Given the description of an element on the screen output the (x, y) to click on. 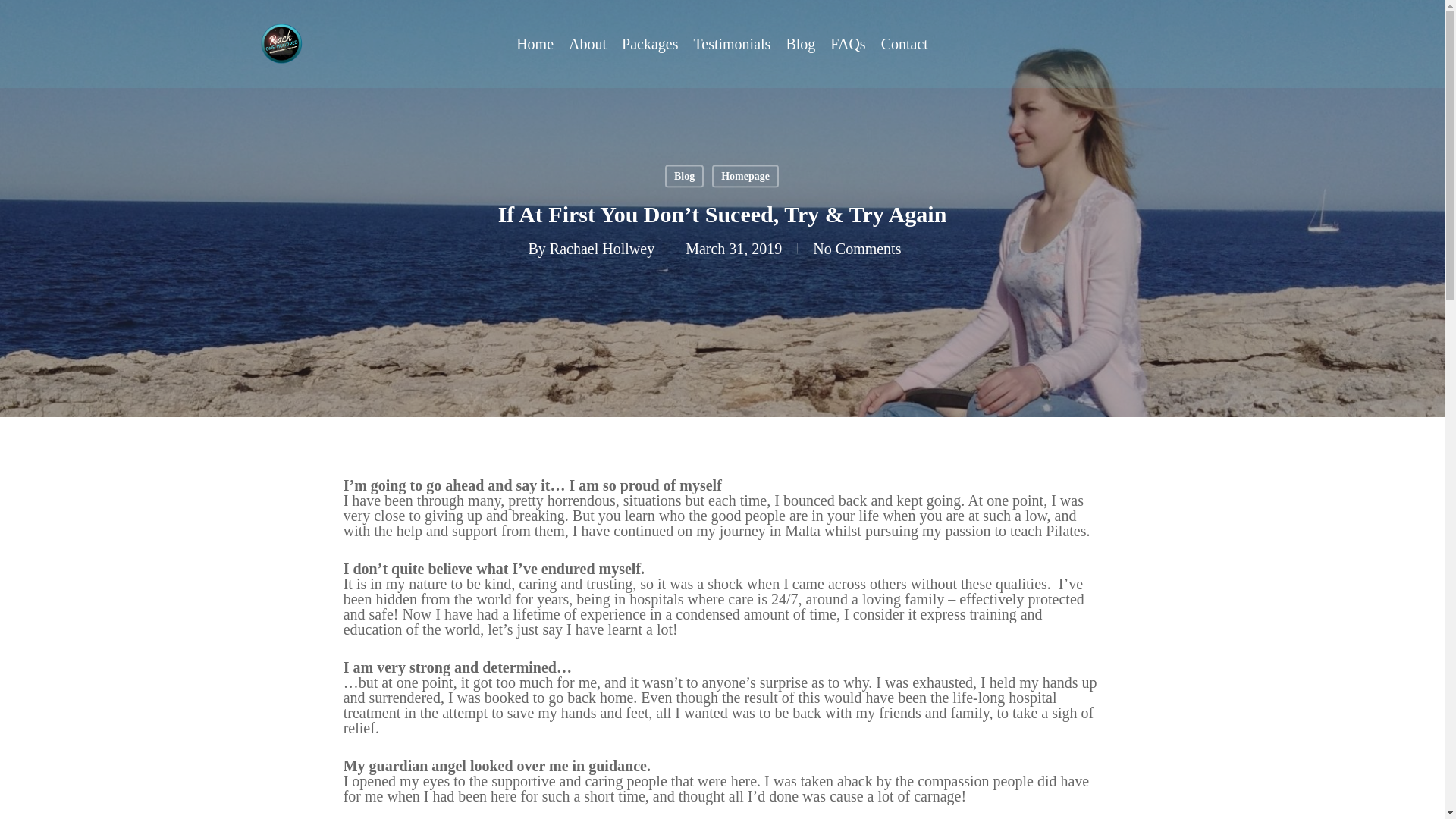
Homepage (744, 176)
Rachael Hollwey (601, 247)
Blog (684, 176)
Contact (904, 43)
Testimonials (731, 43)
FAQs (846, 43)
Blog (800, 43)
No Comments (856, 247)
Home (534, 43)
Posts by Rachael Hollwey (601, 247)
